Given the description of an element on the screen output the (x, y) to click on. 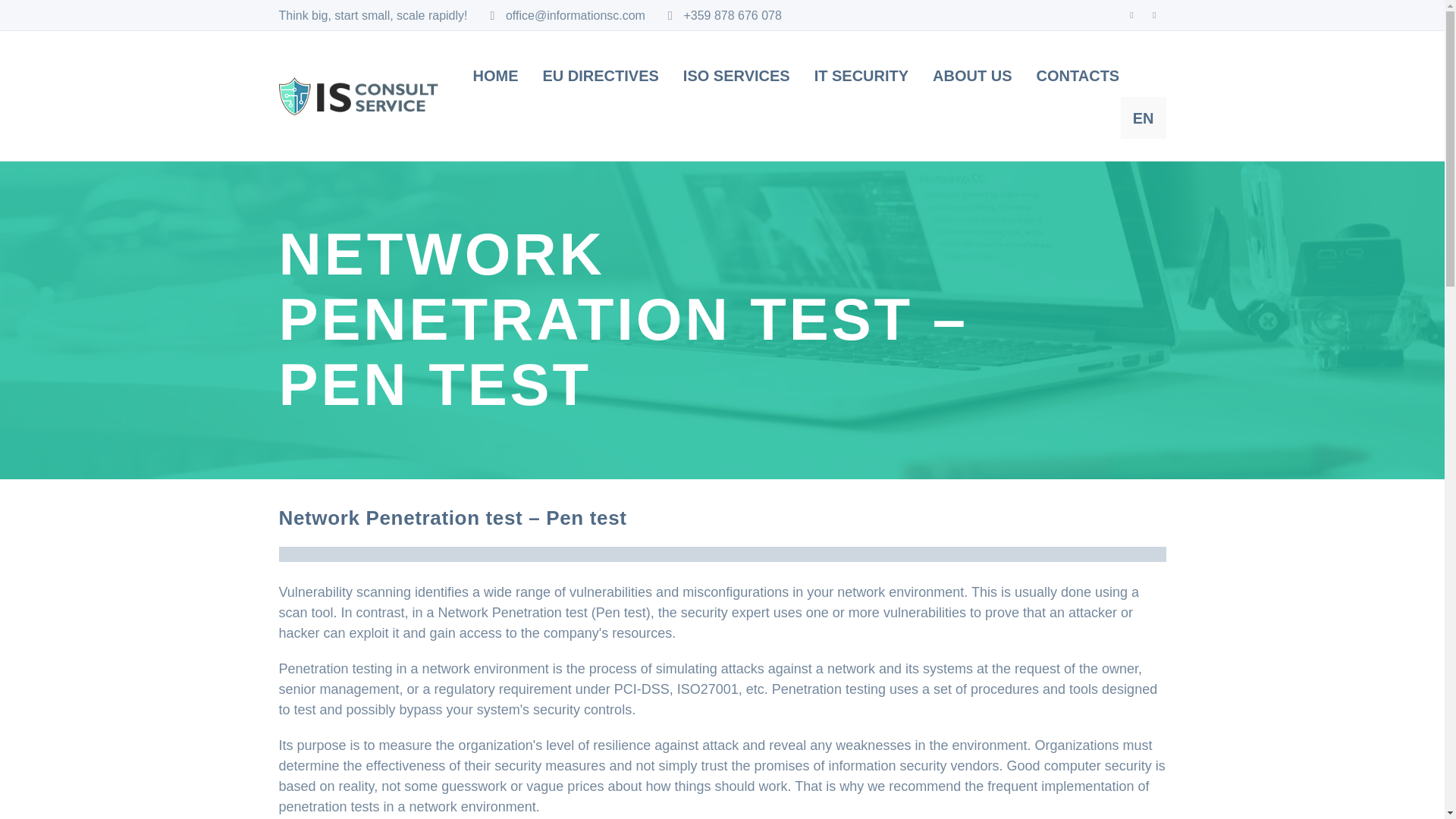
EU DIRECTIVES (601, 75)
IT SECURITY (861, 75)
HOME (496, 75)
ISO SERVICES (736, 75)
